Given the description of an element on the screen output the (x, y) to click on. 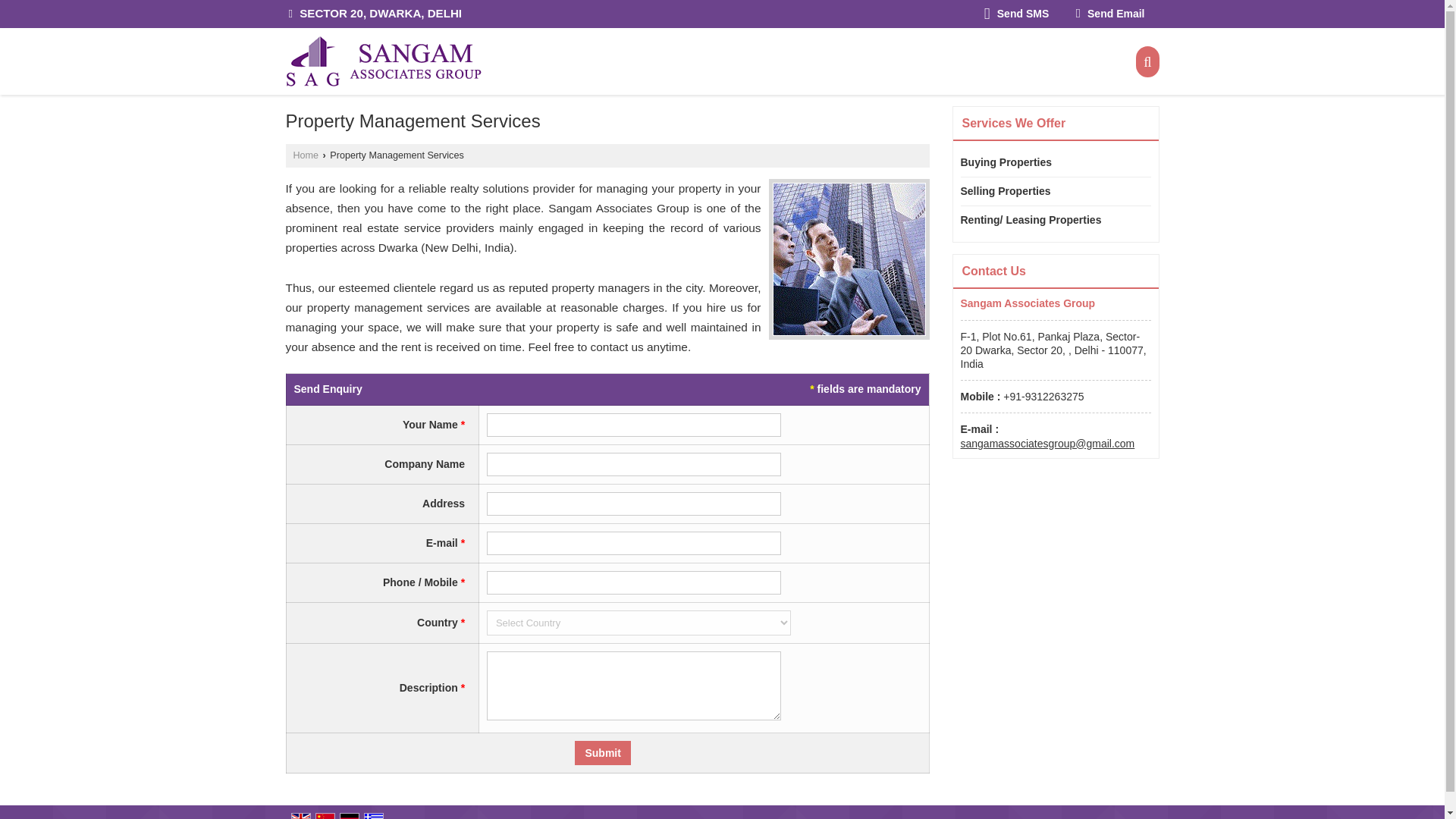
Sangam Associates Group (382, 61)
Send Email (1110, 14)
Submit (602, 752)
Send SMS (1015, 14)
